Given the description of an element on the screen output the (x, y) to click on. 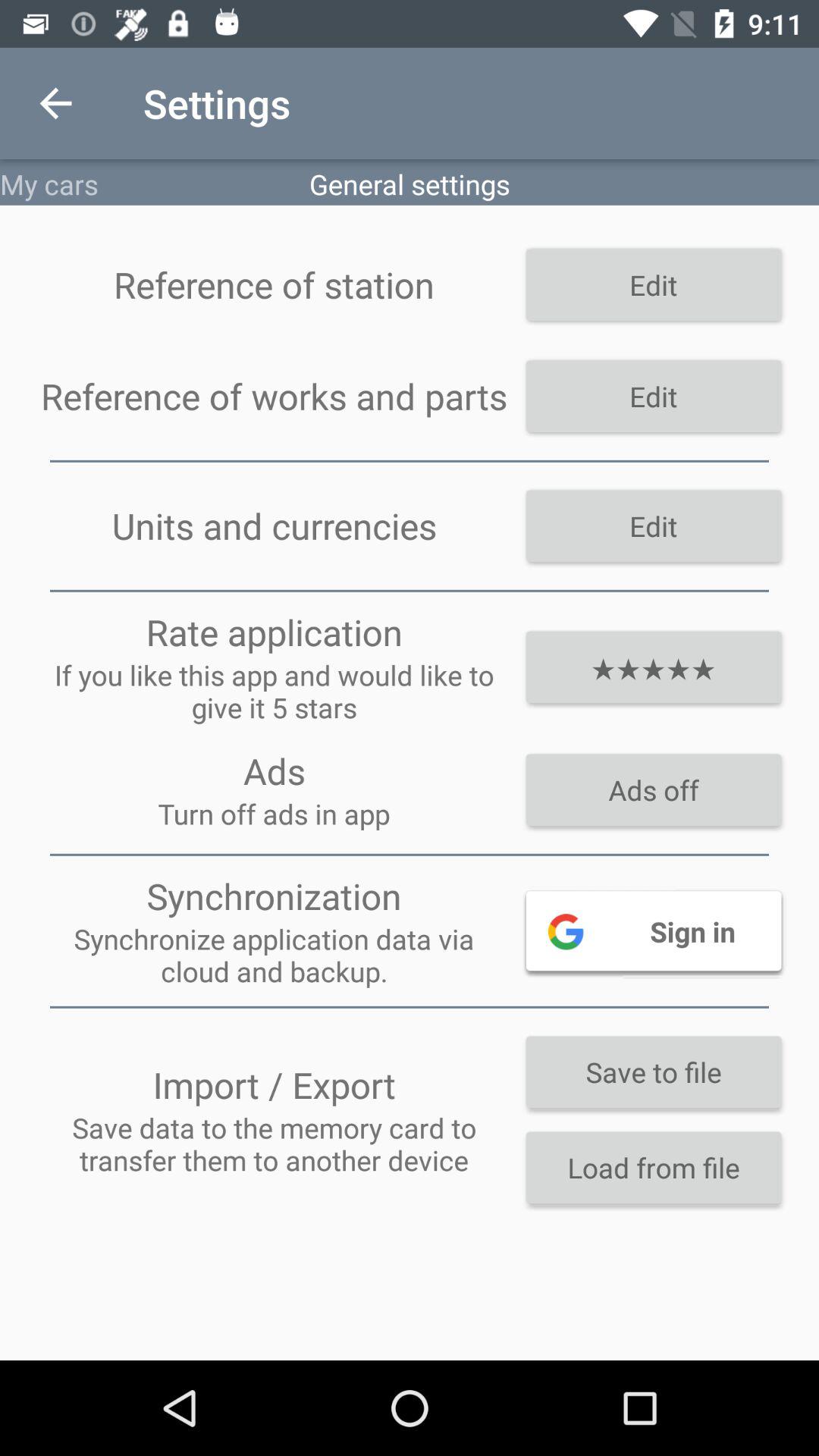
choose item next to the rate application item (653, 666)
